Given the description of an element on the screen output the (x, y) to click on. 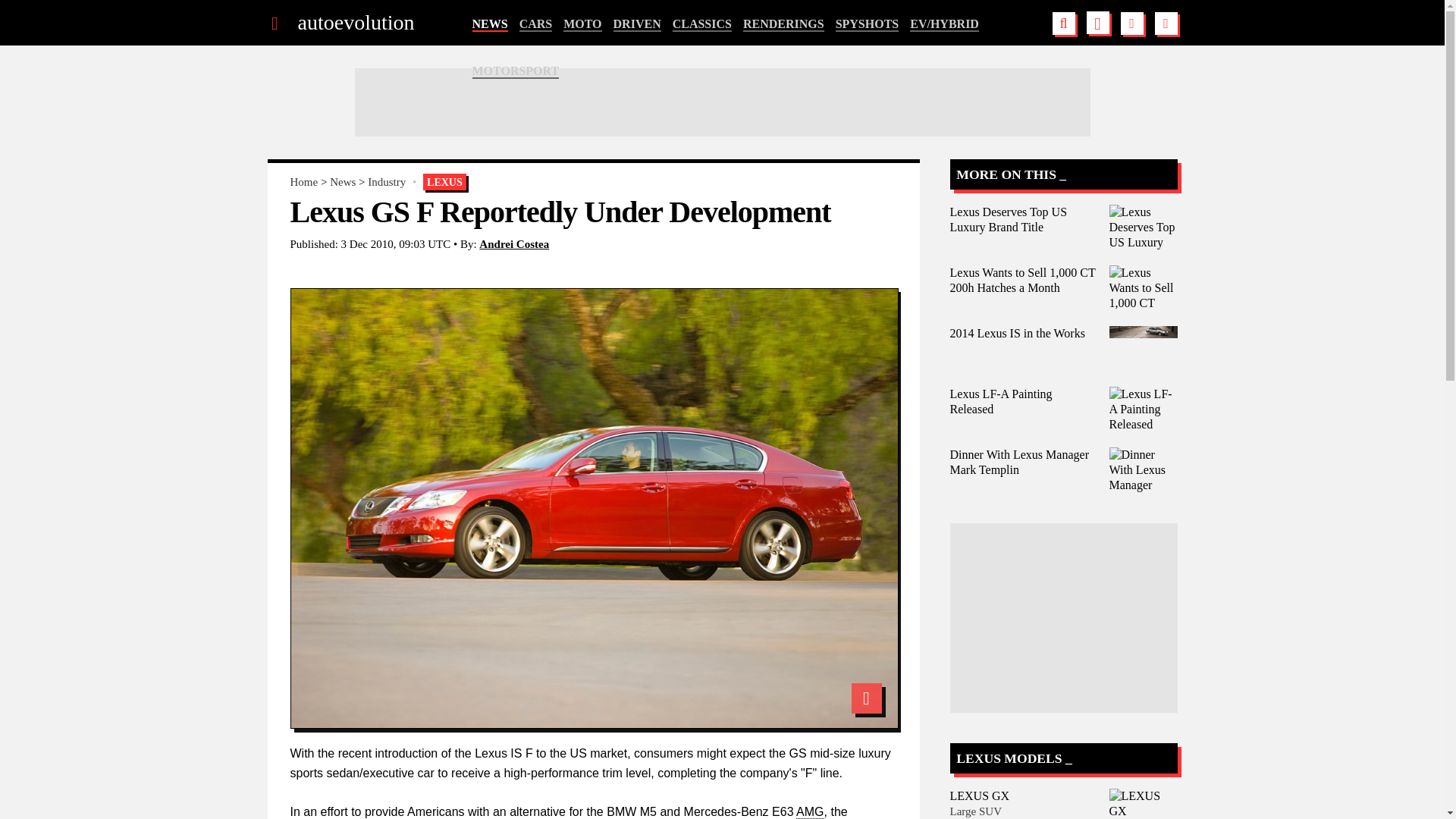
MOTORSPORT (515, 71)
NEWS (488, 24)
autoevolution (355, 22)
DRIVEN (636, 24)
CLASSICS (702, 24)
CARS (536, 24)
Home (303, 182)
News (342, 182)
SPYSHOTS (867, 24)
MOTO (582, 24)
